Given the description of an element on the screen output the (x, y) to click on. 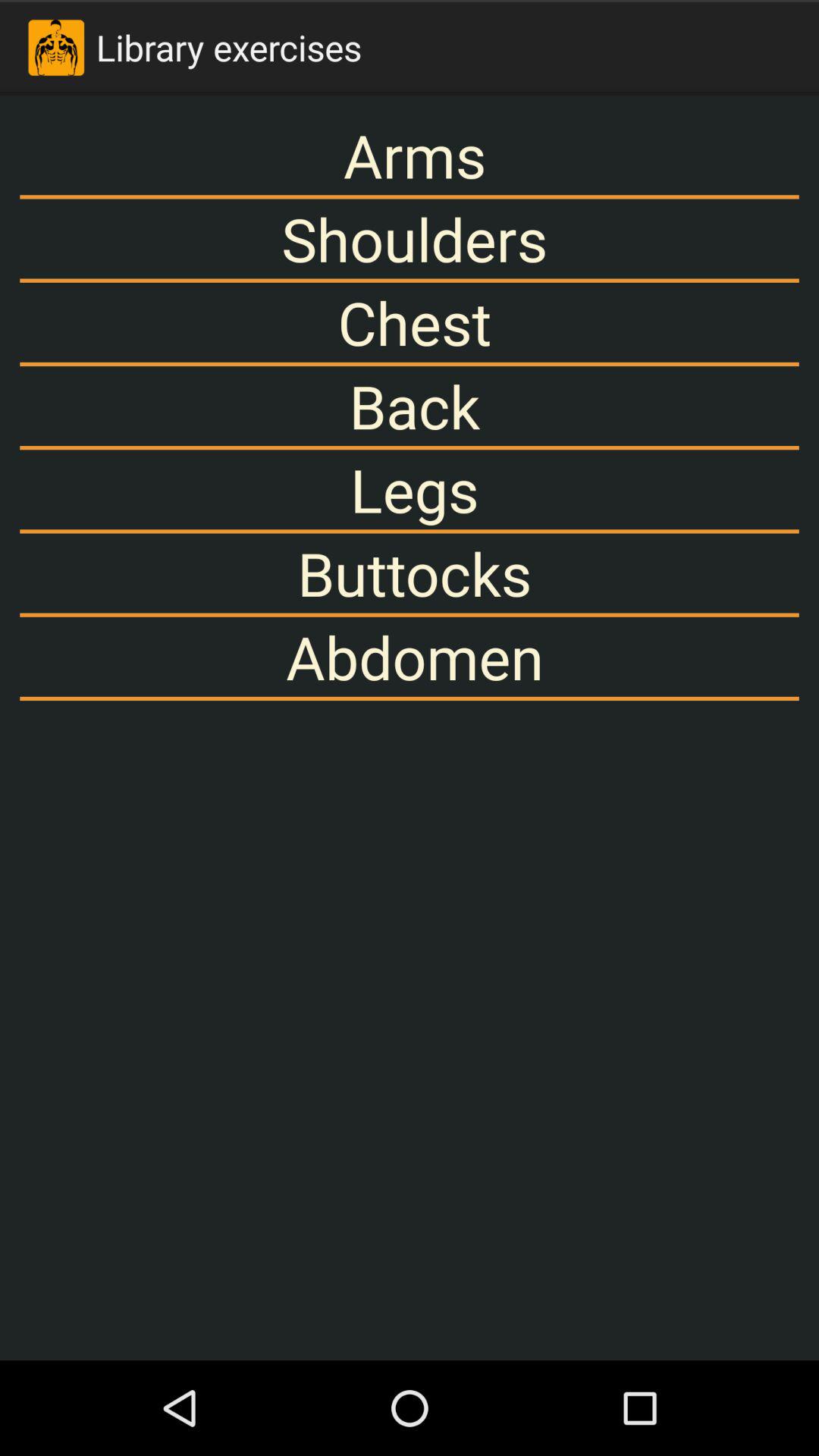
turn off the app above buttocks app (409, 489)
